Given the description of an element on the screen output the (x, y) to click on. 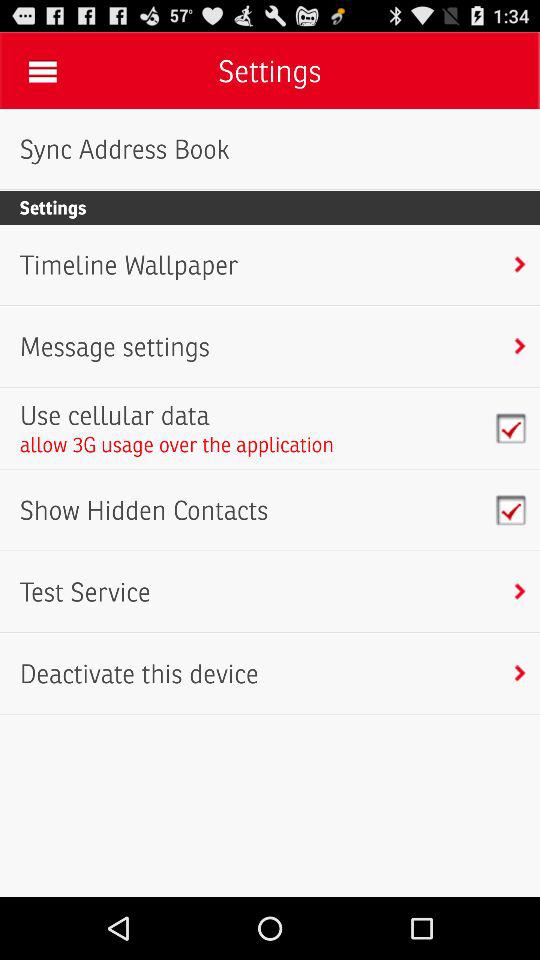
turn off allow 3g usage (176, 444)
